Given the description of an element on the screen output the (x, y) to click on. 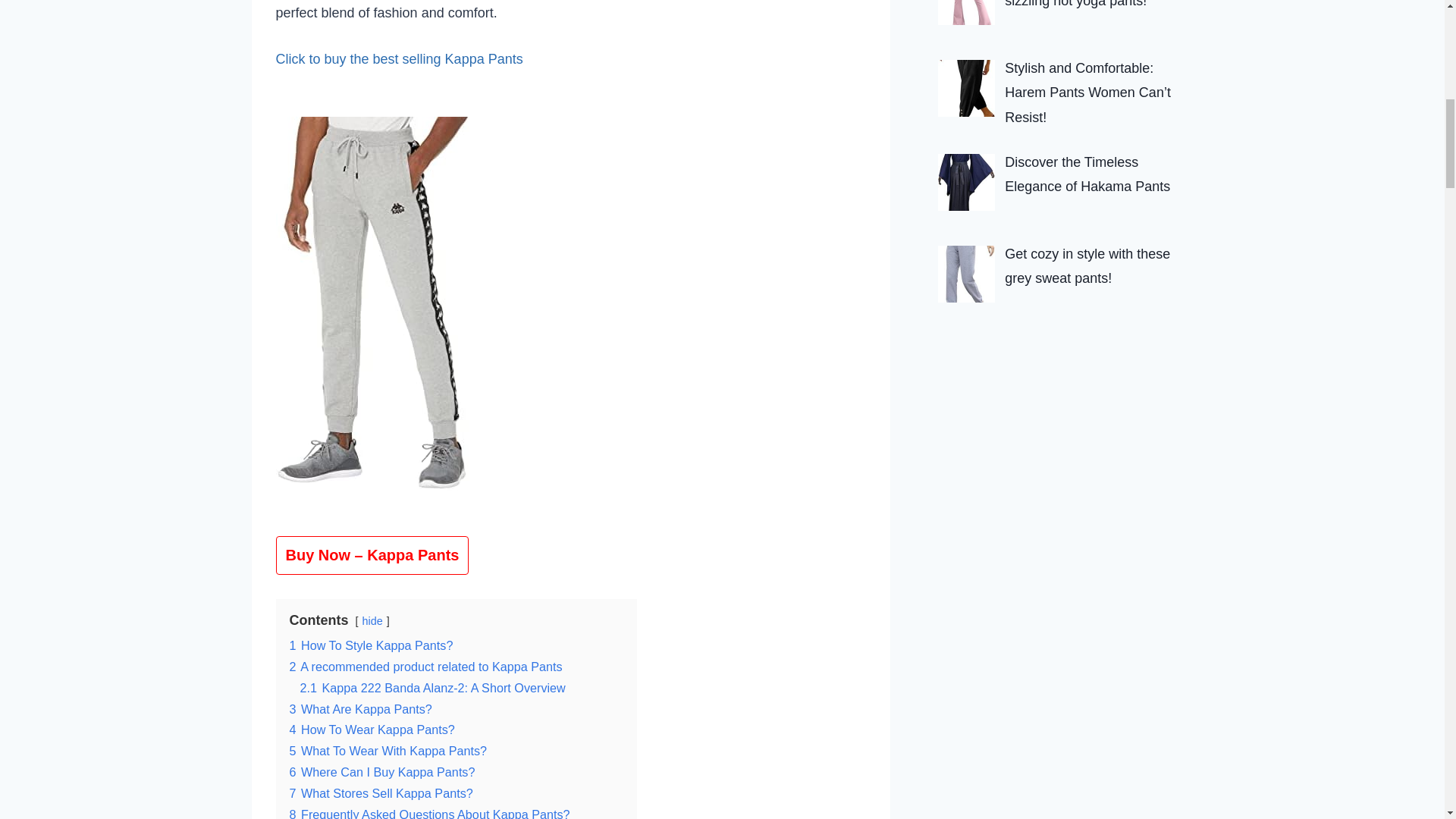
6 Where Can I Buy Kappa Pants? (382, 771)
7 What Stores Sell Kappa Pants? (381, 793)
1 How To Style Kappa Pants? (370, 644)
5 What To Wear With Kappa Pants? (388, 750)
8 Frequently Asked Questions About Kappa Pants? (429, 813)
Click to buy the best selling Kappa Pants (399, 58)
hide (372, 621)
3 What Are Kappa Pants? (360, 708)
2 A recommended product related to Kappa Pants (425, 666)
4 How To Wear Kappa Pants? (371, 729)
2.1 Kappa 222 Banda Alanz-2: A Short Overview (432, 687)
